Given the description of an element on the screen output the (x, y) to click on. 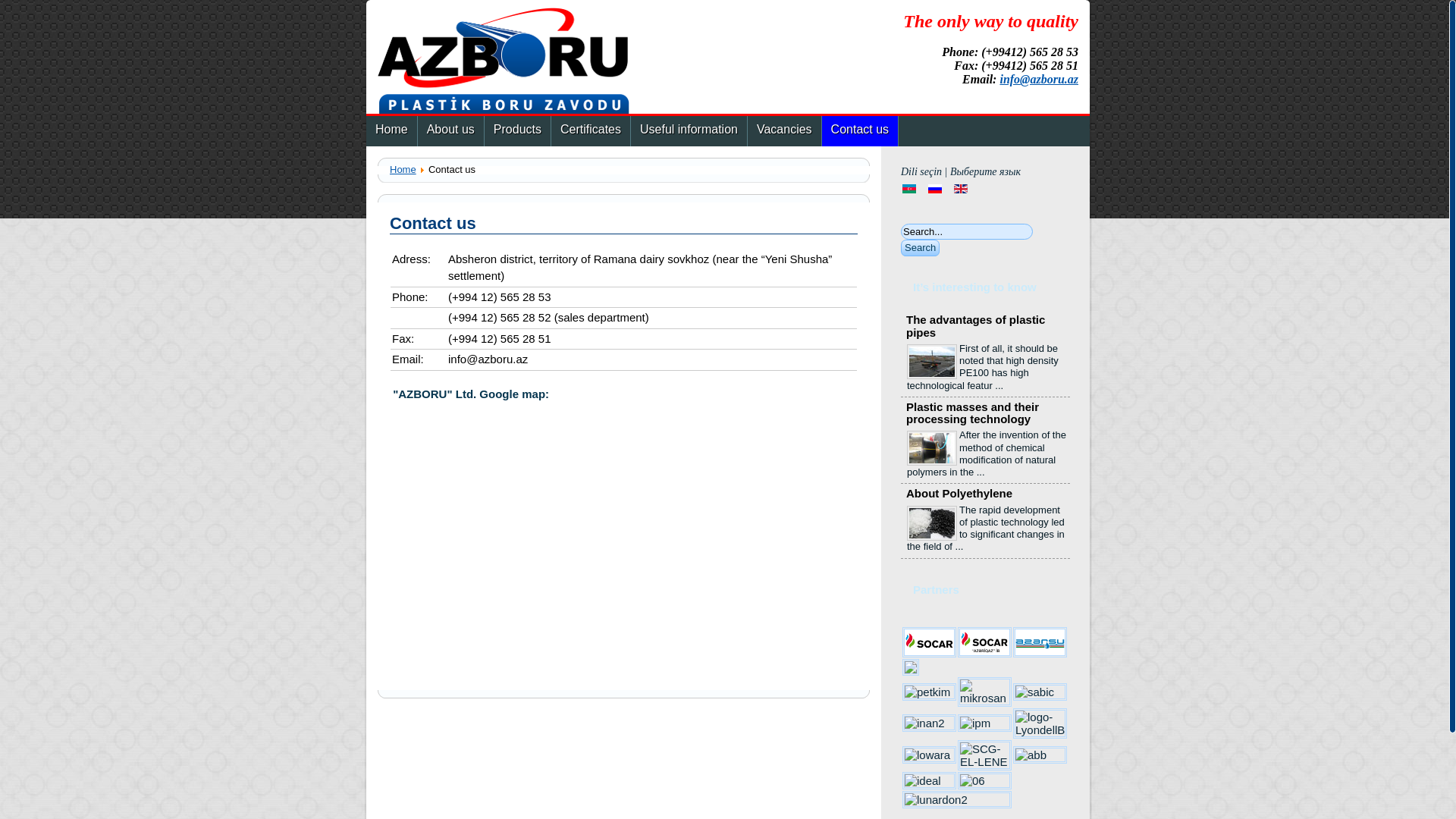
About us Element type: text (450, 131)
Plastic masses and their processing technology Element type: text (972, 412)
English (UK) Element type: hover (960, 188)
info@azboru.az Element type: text (1038, 78)
Home Element type: text (402, 169)
About Polyethylene Element type: text (959, 492)
Certificates Element type: text (590, 131)
Useful information Element type: text (688, 131)
The advantages of plastic pipes Element type: text (975, 325)
azboru.az Element type: hover (503, 60)
Vacancies Element type: text (784, 131)
Products Element type: text (517, 131)
Home Element type: text (391, 131)
Contact us Element type: text (859, 131)
Search Element type: text (919, 247)
